Given the description of an element on the screen output the (x, y) to click on. 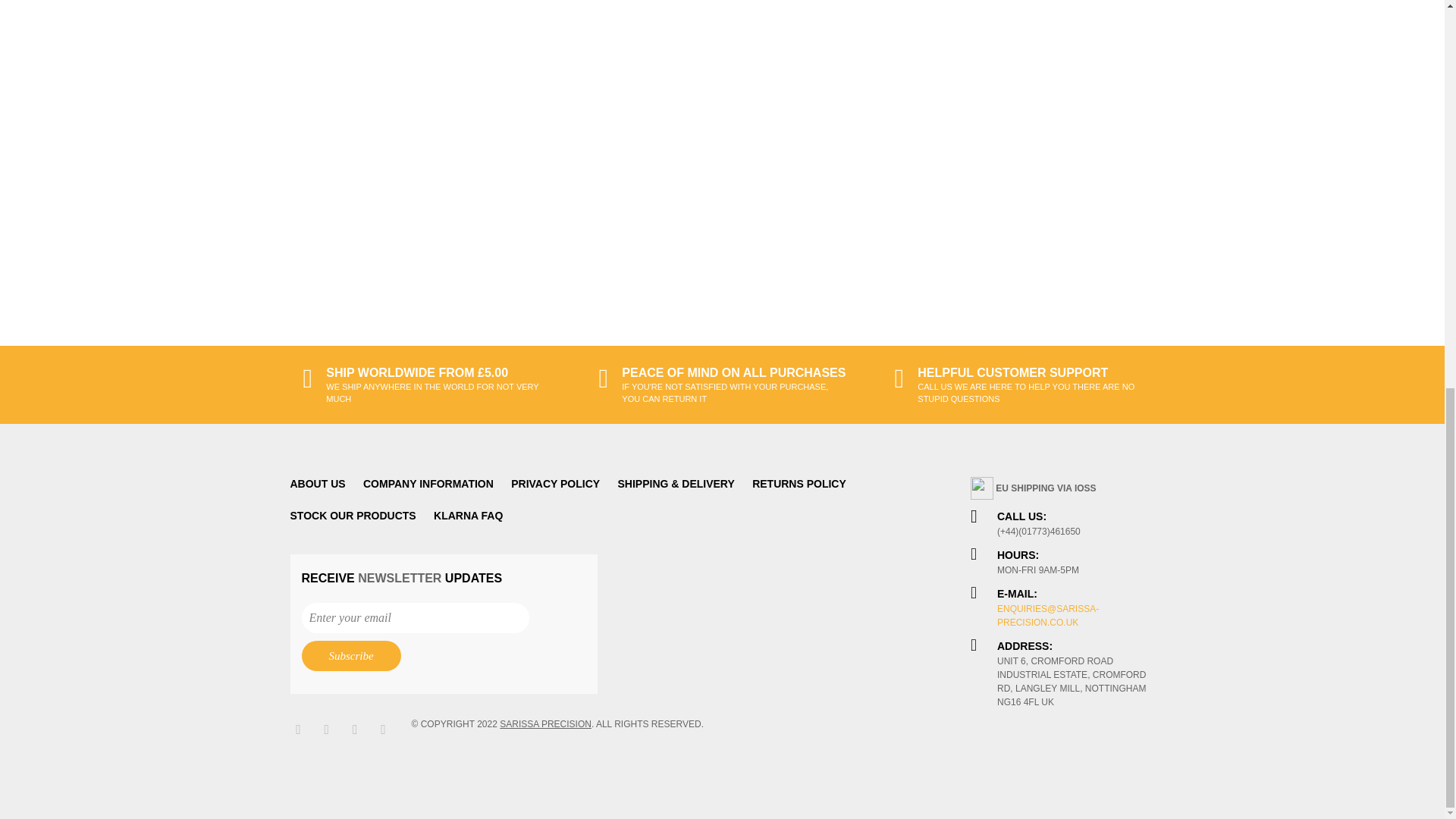
Subscribe (351, 655)
Enter your email (415, 617)
